Given the description of an element on the screen output the (x, y) to click on. 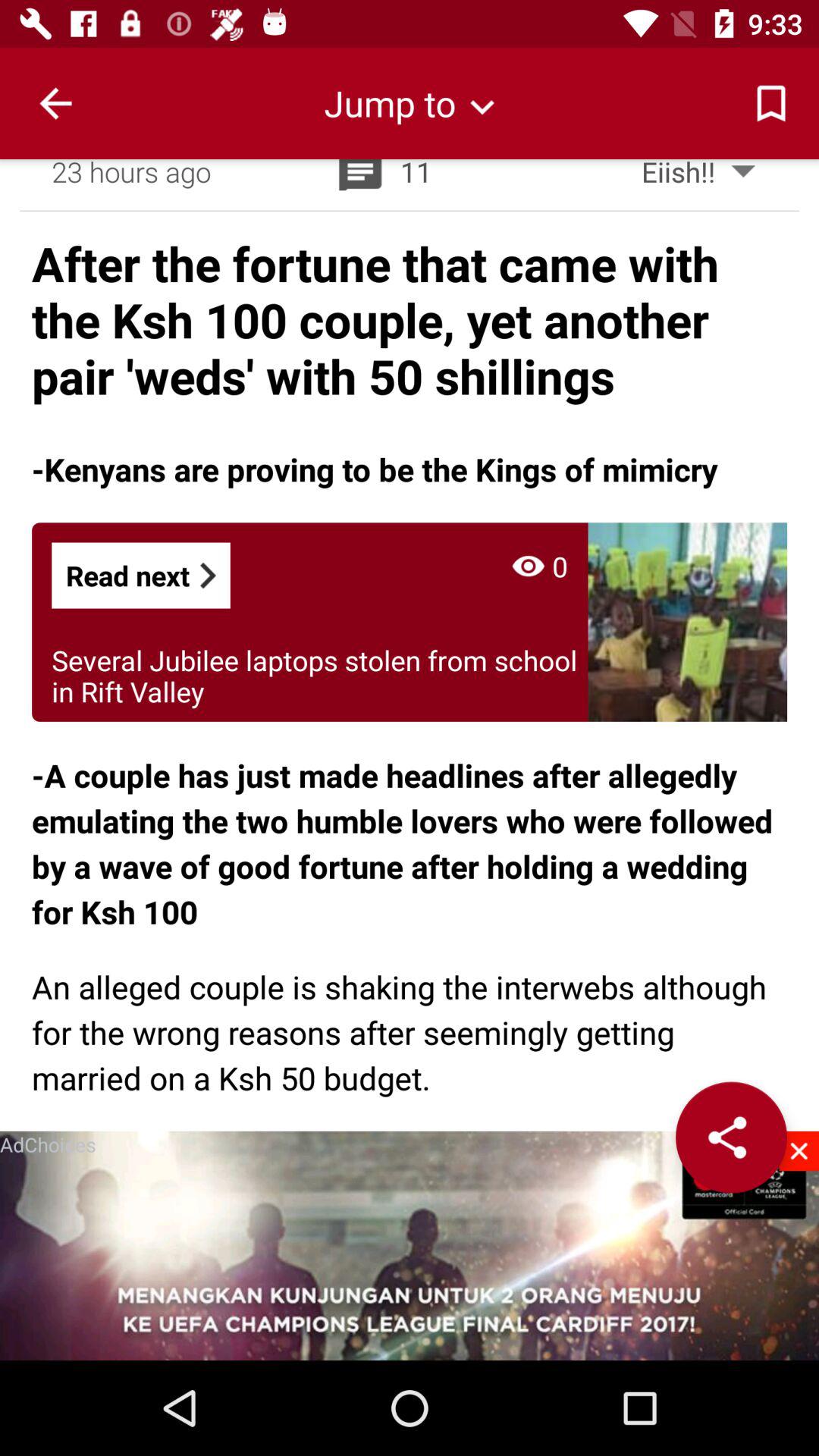
tap the app to the right of the adchoices item (731, 1137)
